Given the description of an element on the screen output the (x, y) to click on. 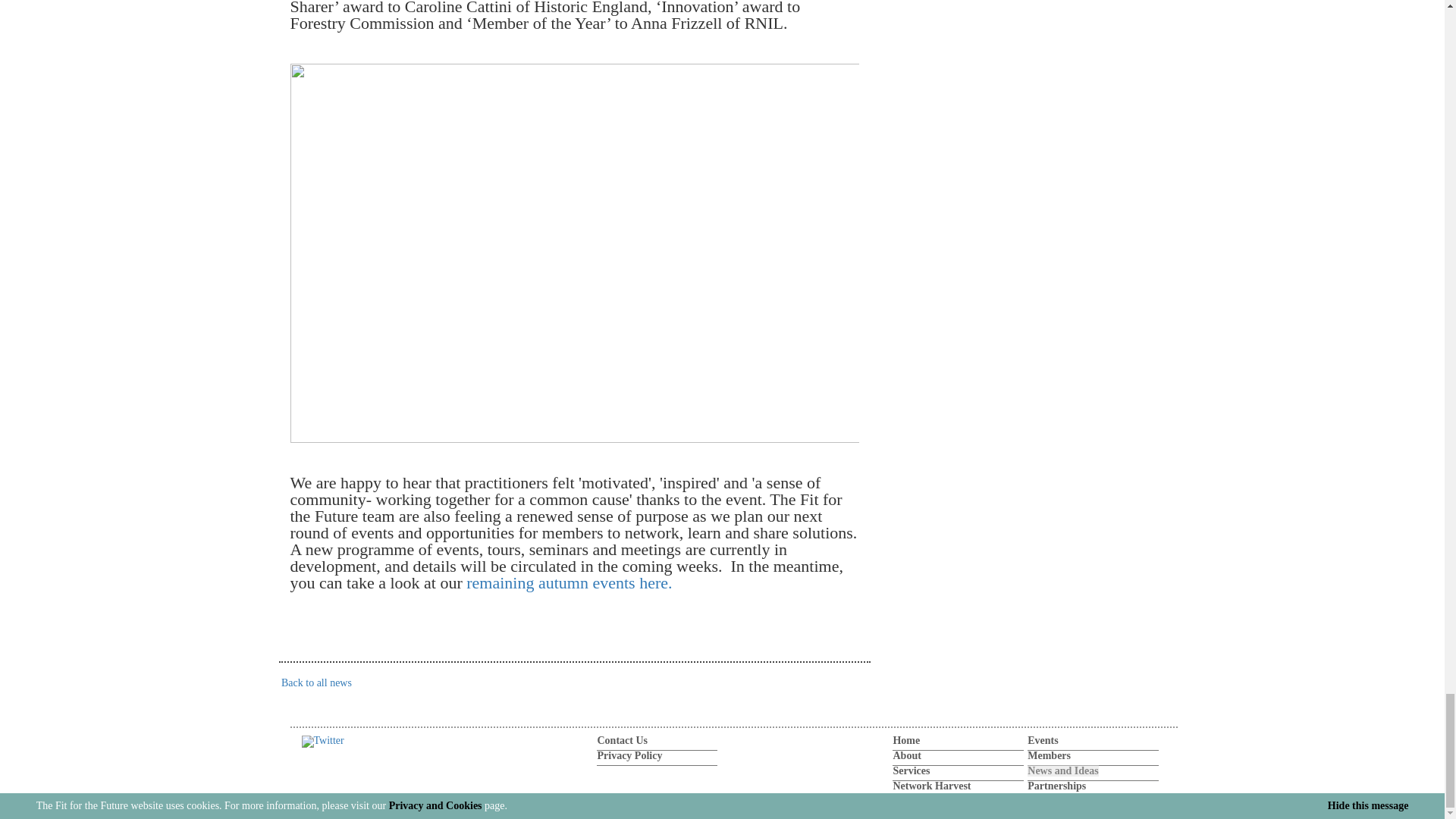
Twitter (322, 740)
Back to all news (315, 682)
remaining autumn events here. (568, 582)
Contact Us (621, 740)
Privacy Policy (629, 755)
